Given the description of an element on the screen output the (x, y) to click on. 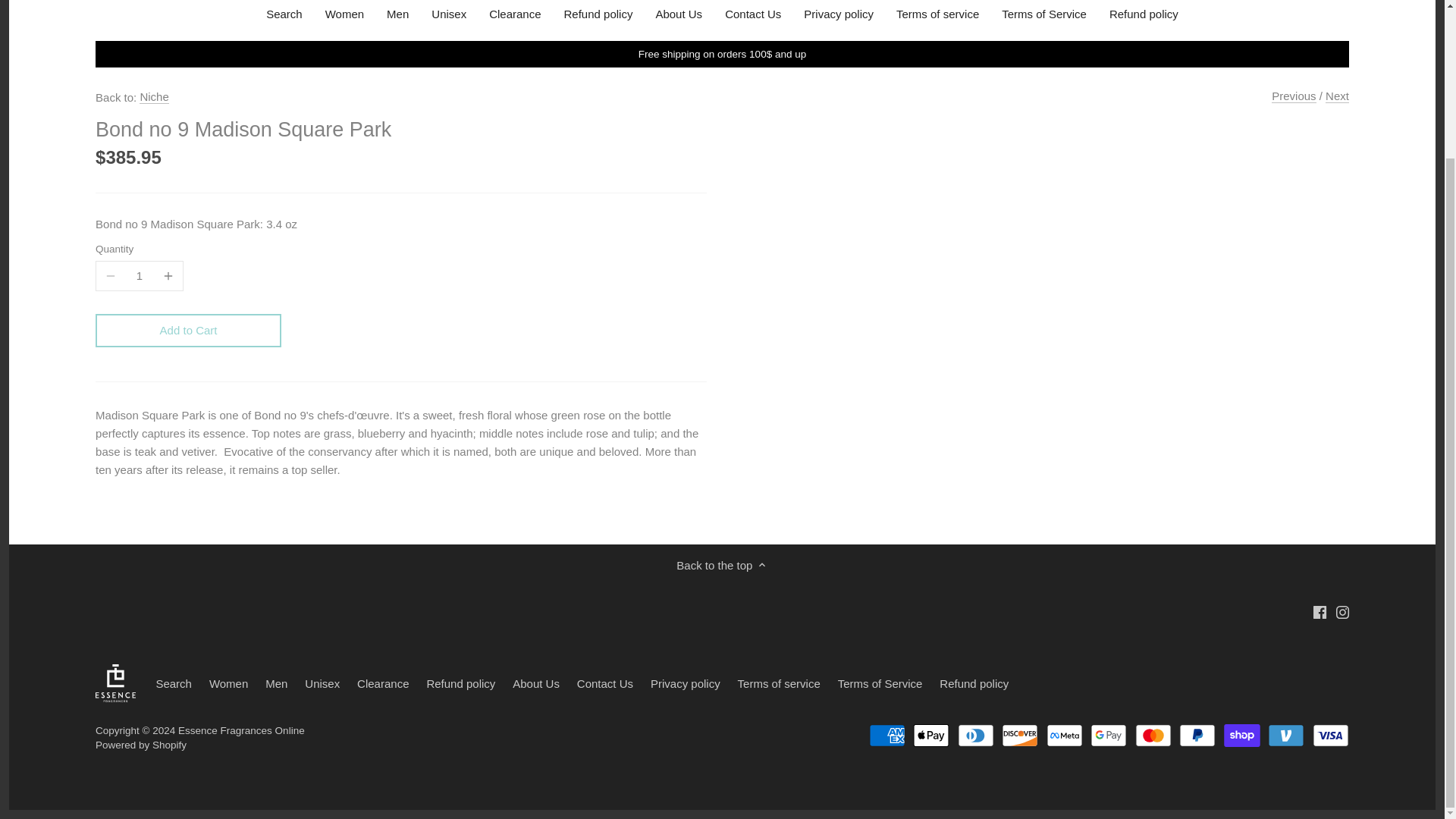
Back to the top (722, 565)
Niche (153, 97)
Clearance (514, 16)
Apple Pay (930, 734)
Women (344, 16)
Diners Club (976, 734)
1 (139, 275)
Men (397, 16)
Facebook (1319, 610)
American Express (887, 734)
Privacy policy (838, 16)
Meta Pay (1064, 734)
Previous (1293, 95)
PayPal (1197, 734)
Visa (1331, 734)
